Given the description of an element on the screen output the (x, y) to click on. 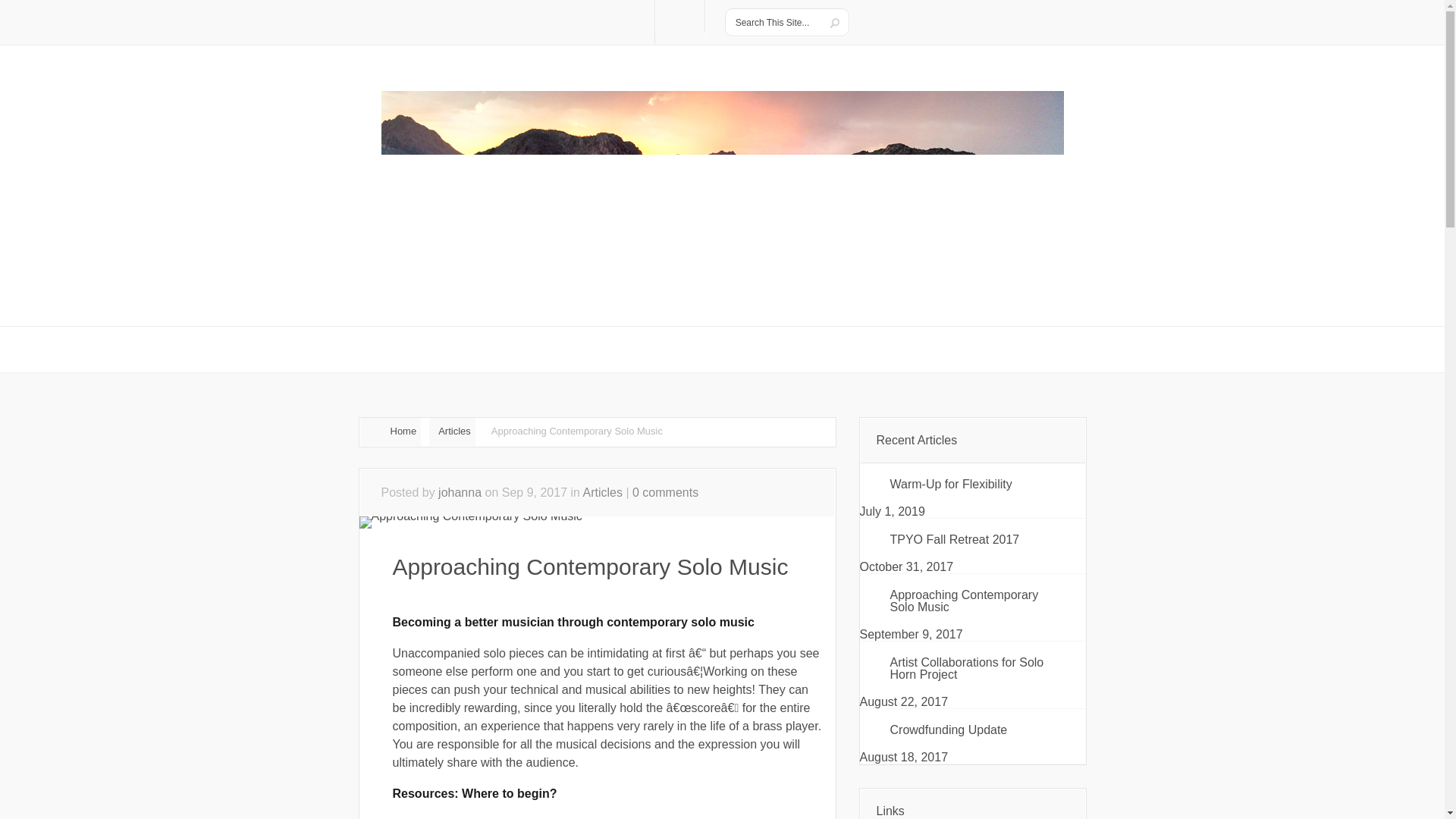
TPYO Fall Retreat 2017 (973, 539)
Home (389, 431)
Articles (603, 492)
0 comments (664, 492)
Articles (452, 431)
Warm-Up for Flexibility (973, 484)
johanna (459, 492)
Approaching Contemporary Solo Music (973, 601)
Crowdfunding Update (973, 730)
Artist Collaborations for Solo Horn Project (973, 668)
